Given the description of an element on the screen output the (x, y) to click on. 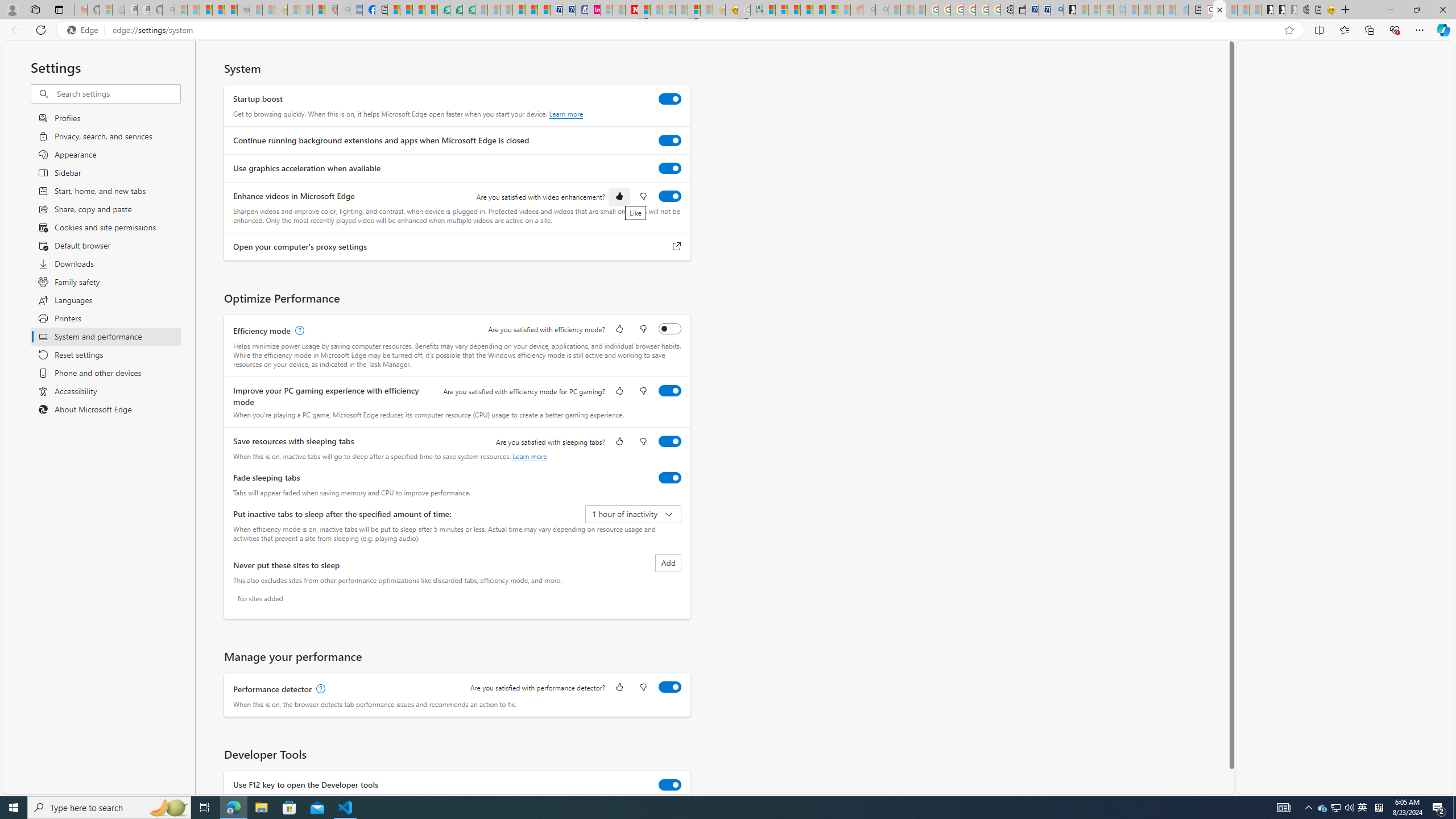
Startup boost (669, 98)
Search settings (117, 93)
Open your computer's proxy settings (676, 246)
Enhance videos in Microsoft Edge (669, 196)
Efficiency mode (669, 328)
